Given the description of an element on the screen output the (x, y) to click on. 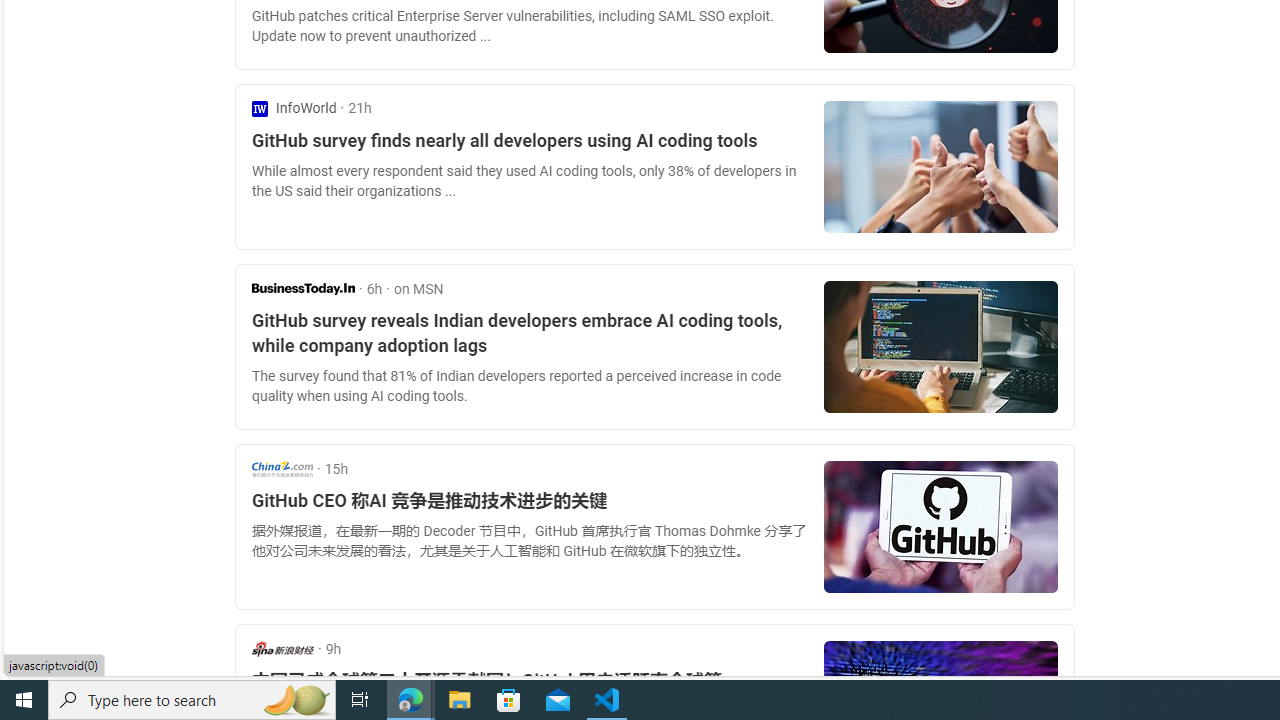
Business Today (303, 288)
Search news from InfoWorld (294, 108)
